Given the description of an element on the screen output the (x, y) to click on. 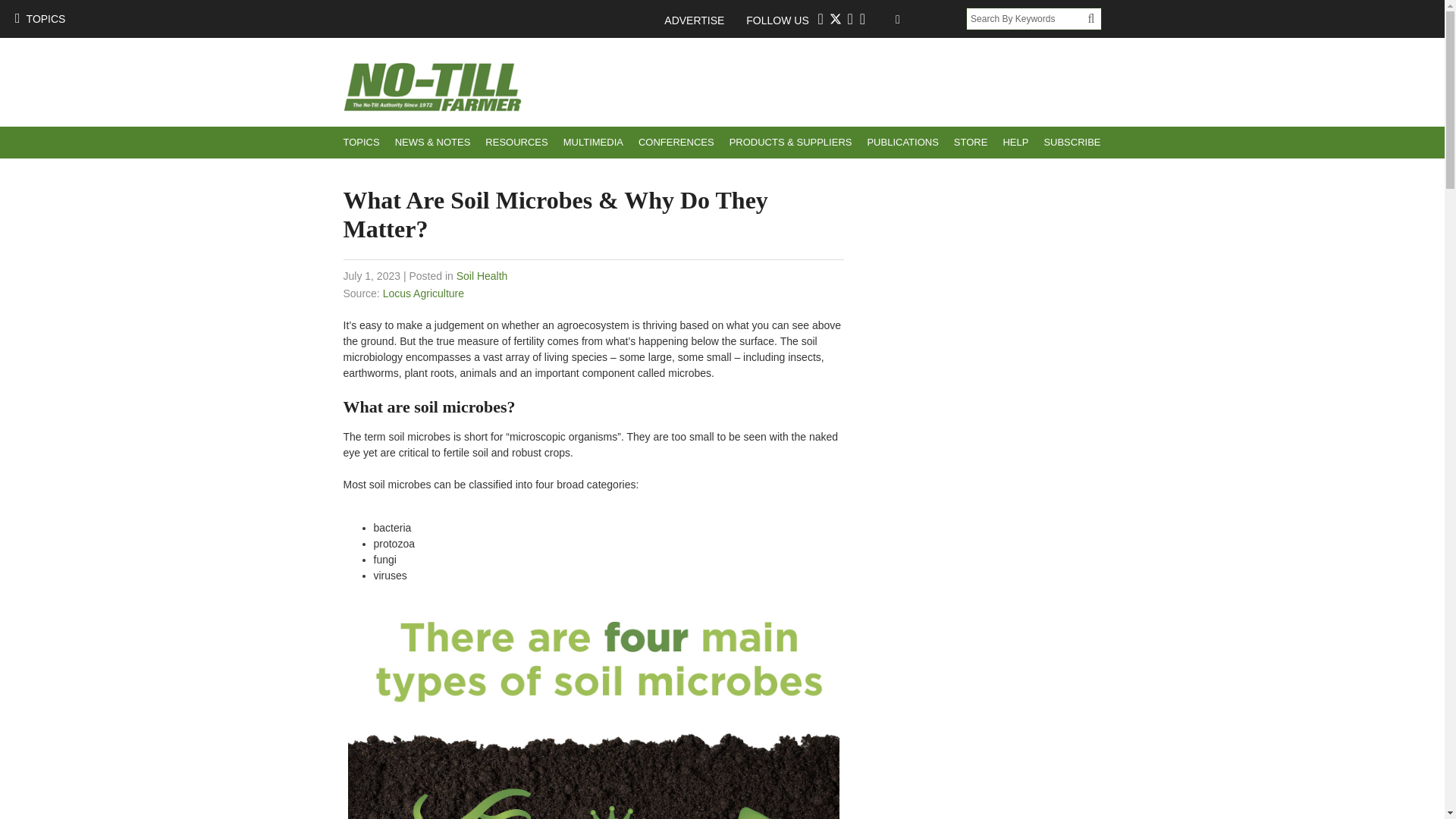
ADVERTISE (701, 20)
TOPICS (39, 18)
Search By Keywords (1026, 18)
Search By Keywords (1026, 18)
TOPICS (360, 142)
